Given the description of an element on the screen output the (x, y) to click on. 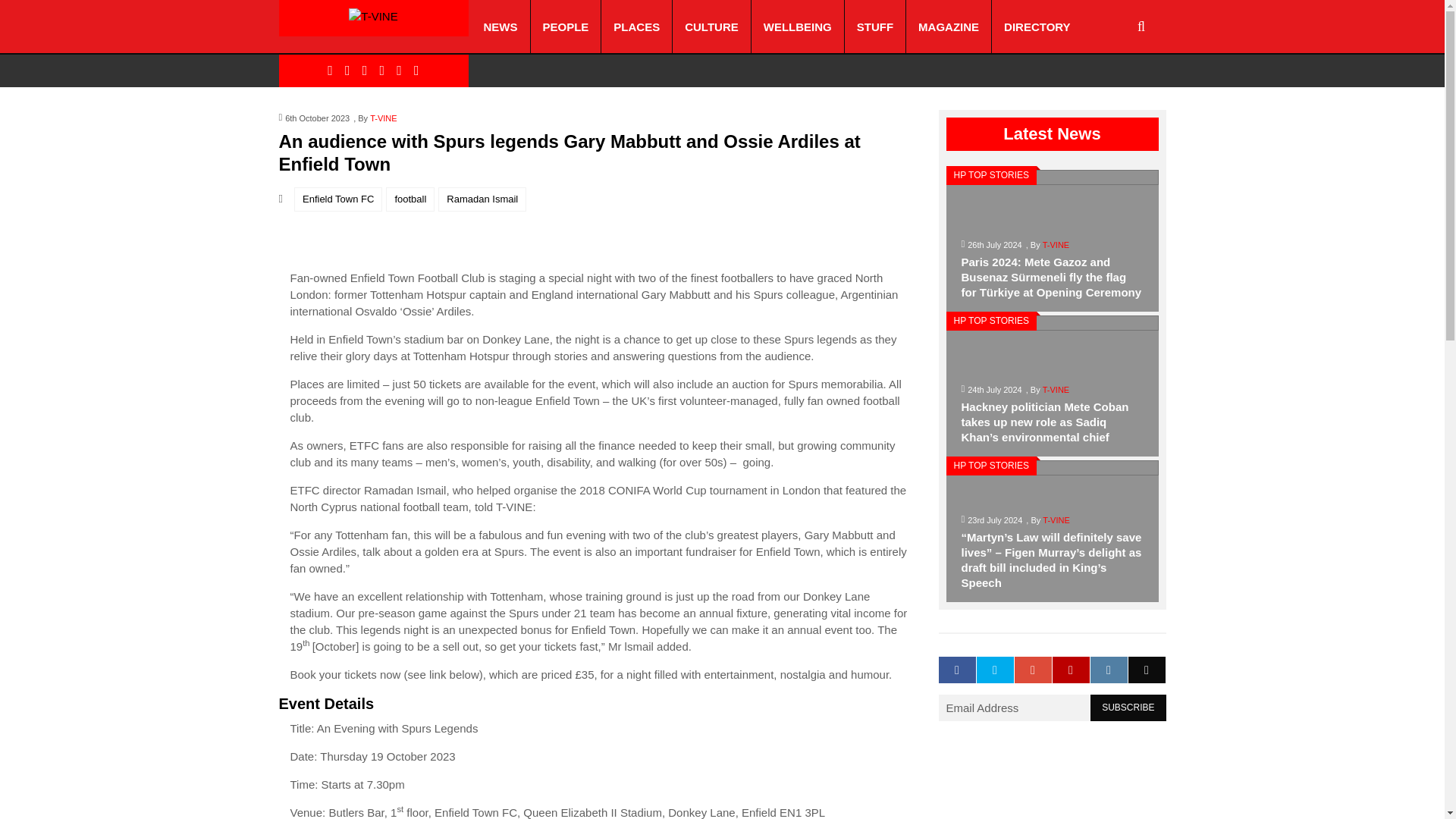
PEOPLE (566, 26)
NEWS (500, 26)
PLACES (636, 26)
CULTURE (711, 26)
Subscribe (1128, 718)
